Given the description of an element on the screen output the (x, y) to click on. 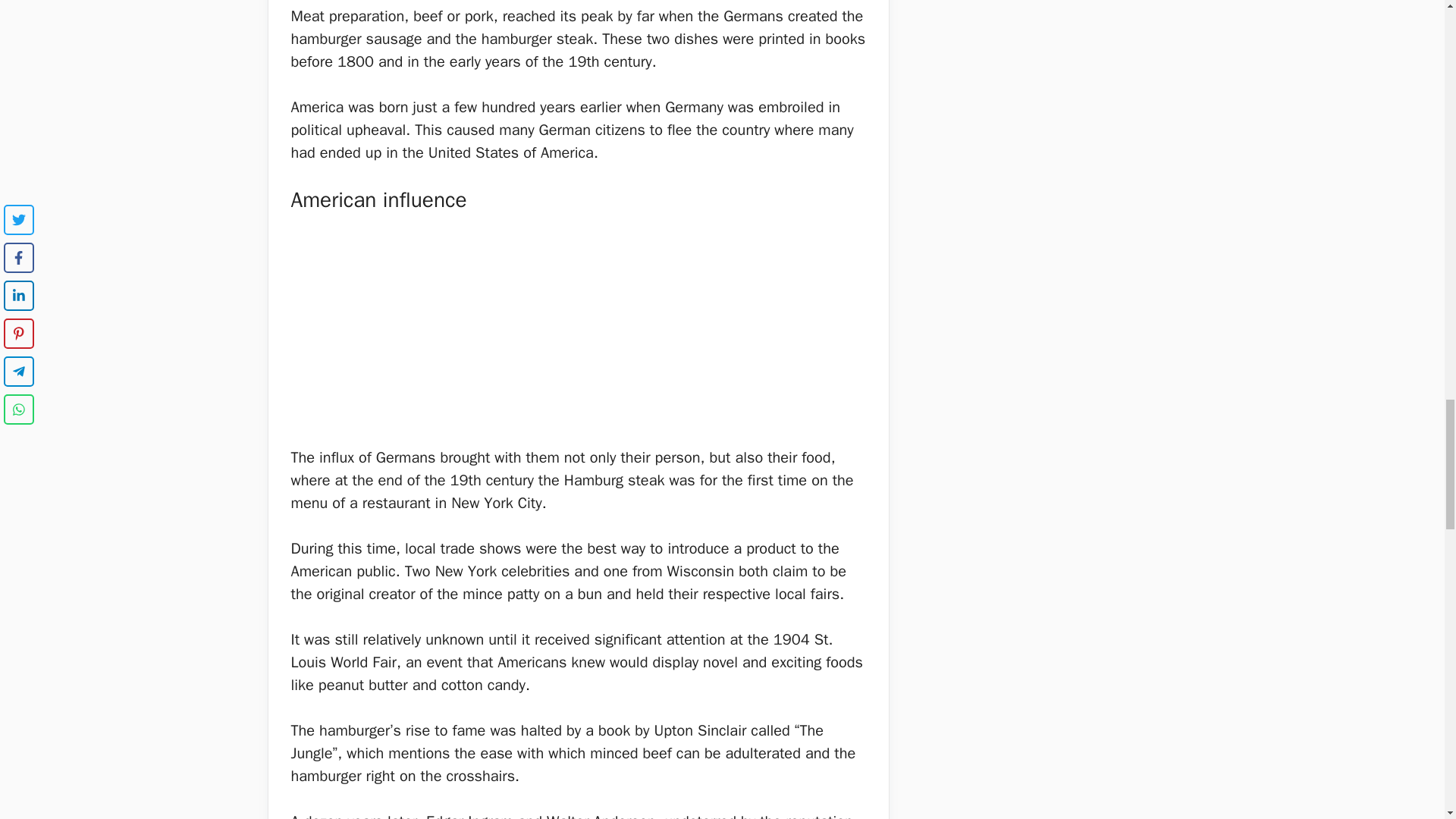
Advertisement (578, 334)
